Given the description of an element on the screen output the (x, y) to click on. 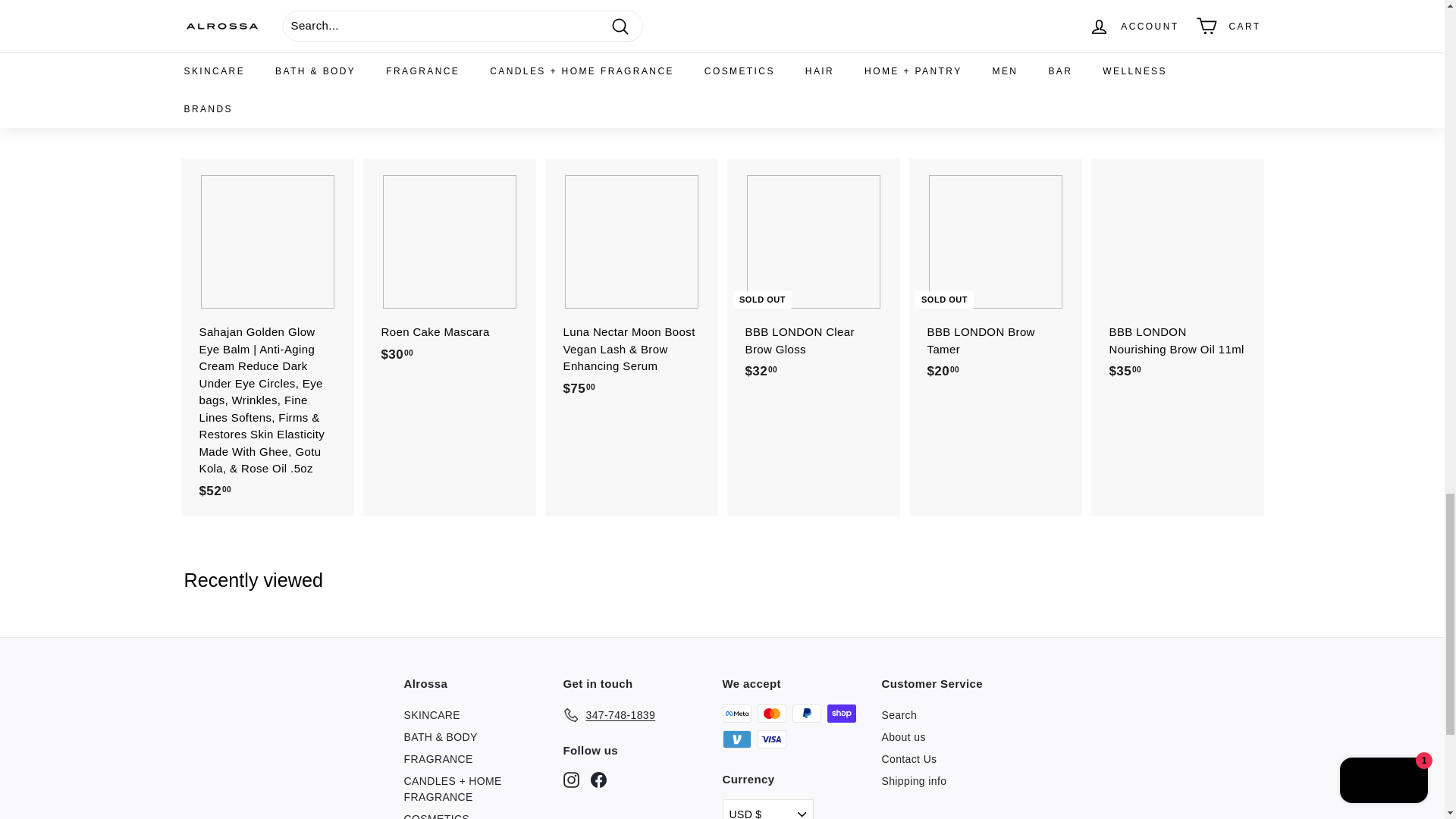
Shop Pay (841, 713)
Meta Pay (736, 713)
PayPal (806, 713)
Venmo (736, 739)
Visa (771, 739)
Mastercard (771, 713)
